Given the description of an element on the screen output the (x, y) to click on. 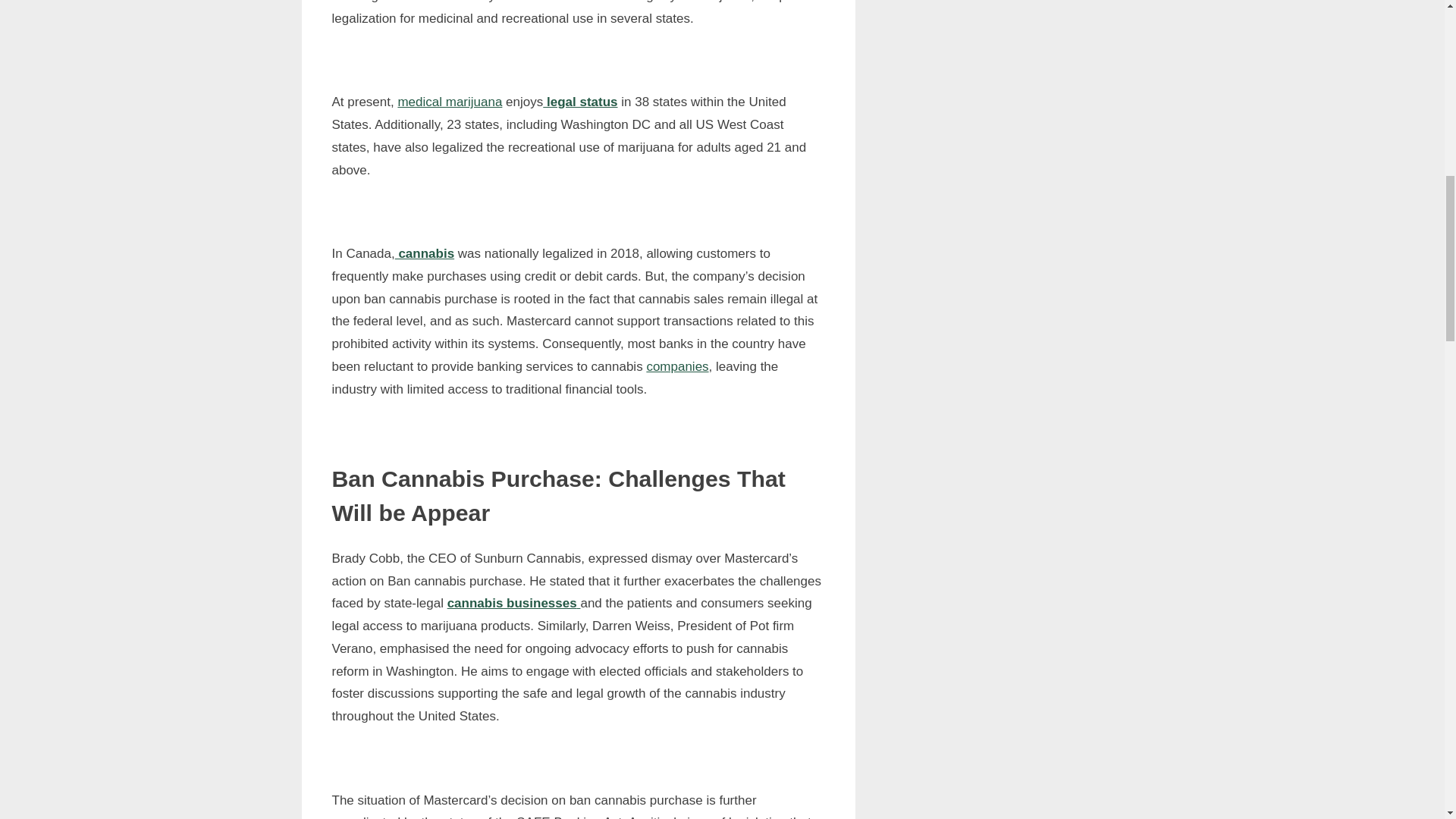
cannabis (424, 253)
legal status (580, 101)
companies (676, 366)
cannabis businesses (513, 603)
medical marijuana (449, 101)
